Given the description of an element on the screen output the (x, y) to click on. 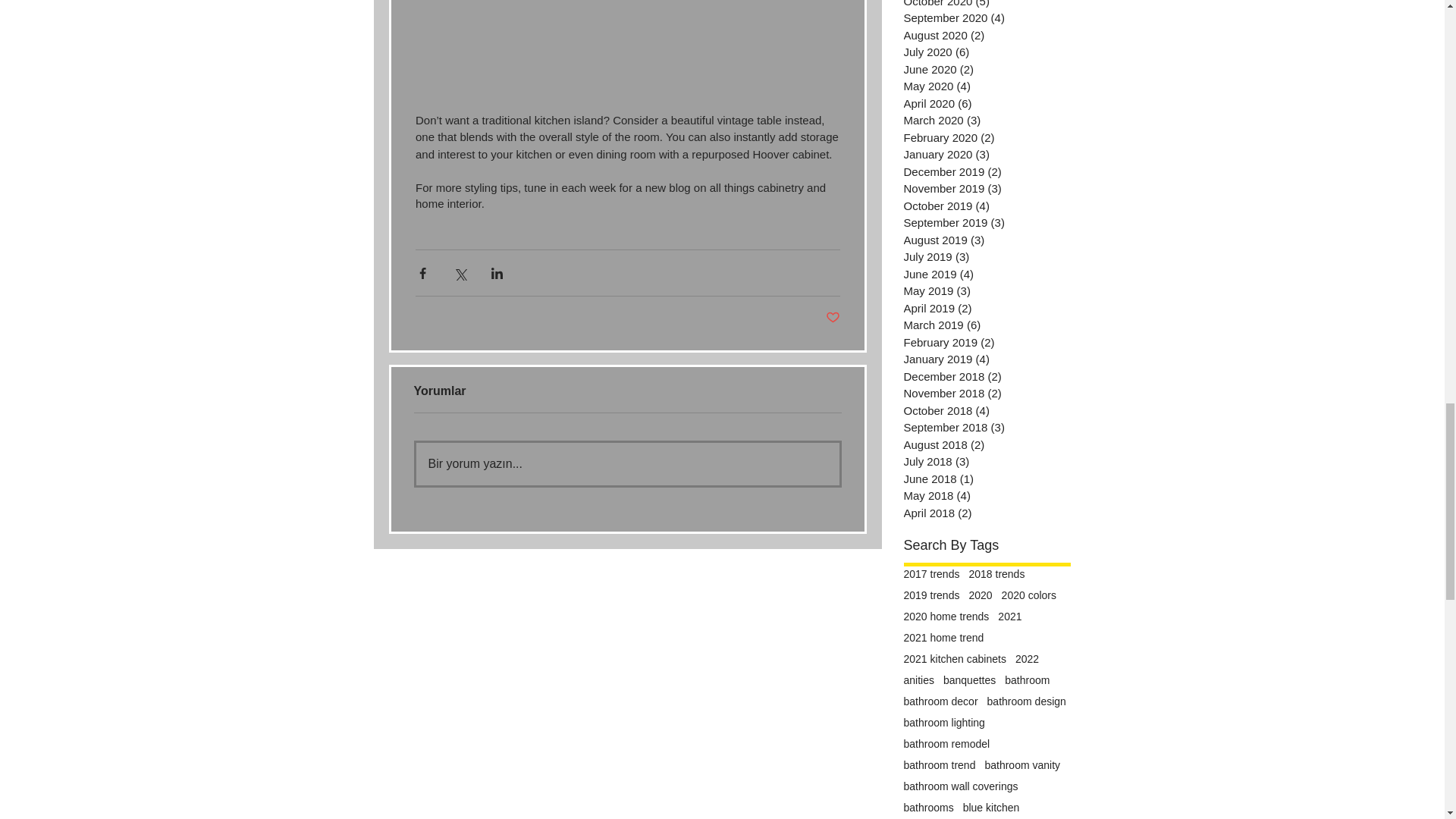
Post not marked as liked (832, 317)
